Given the description of an element on the screen output the (x, y) to click on. 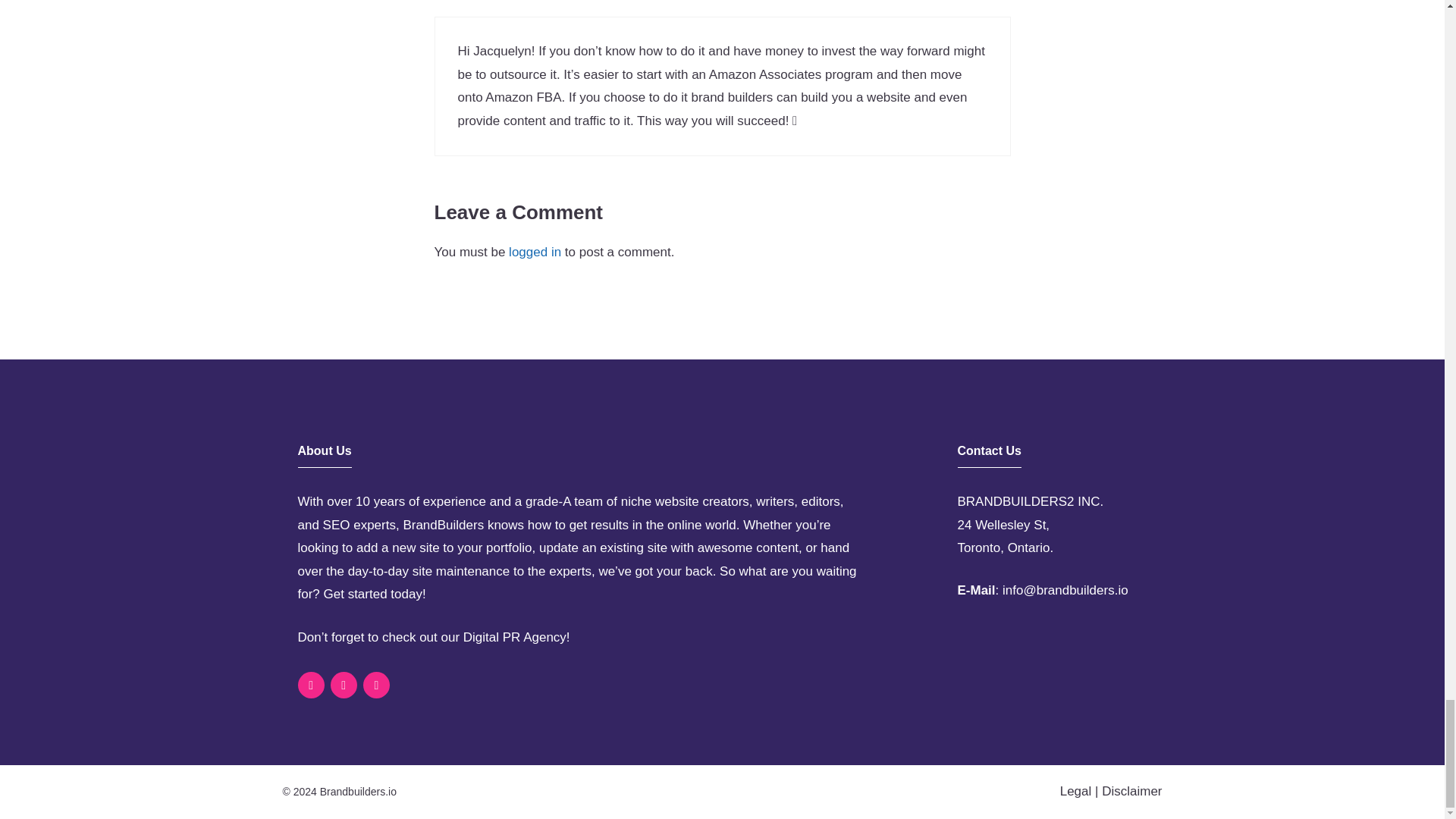
Twitter (376, 684)
YouTube (343, 684)
Facebook (310, 684)
